Given the description of an element on the screen output the (x, y) to click on. 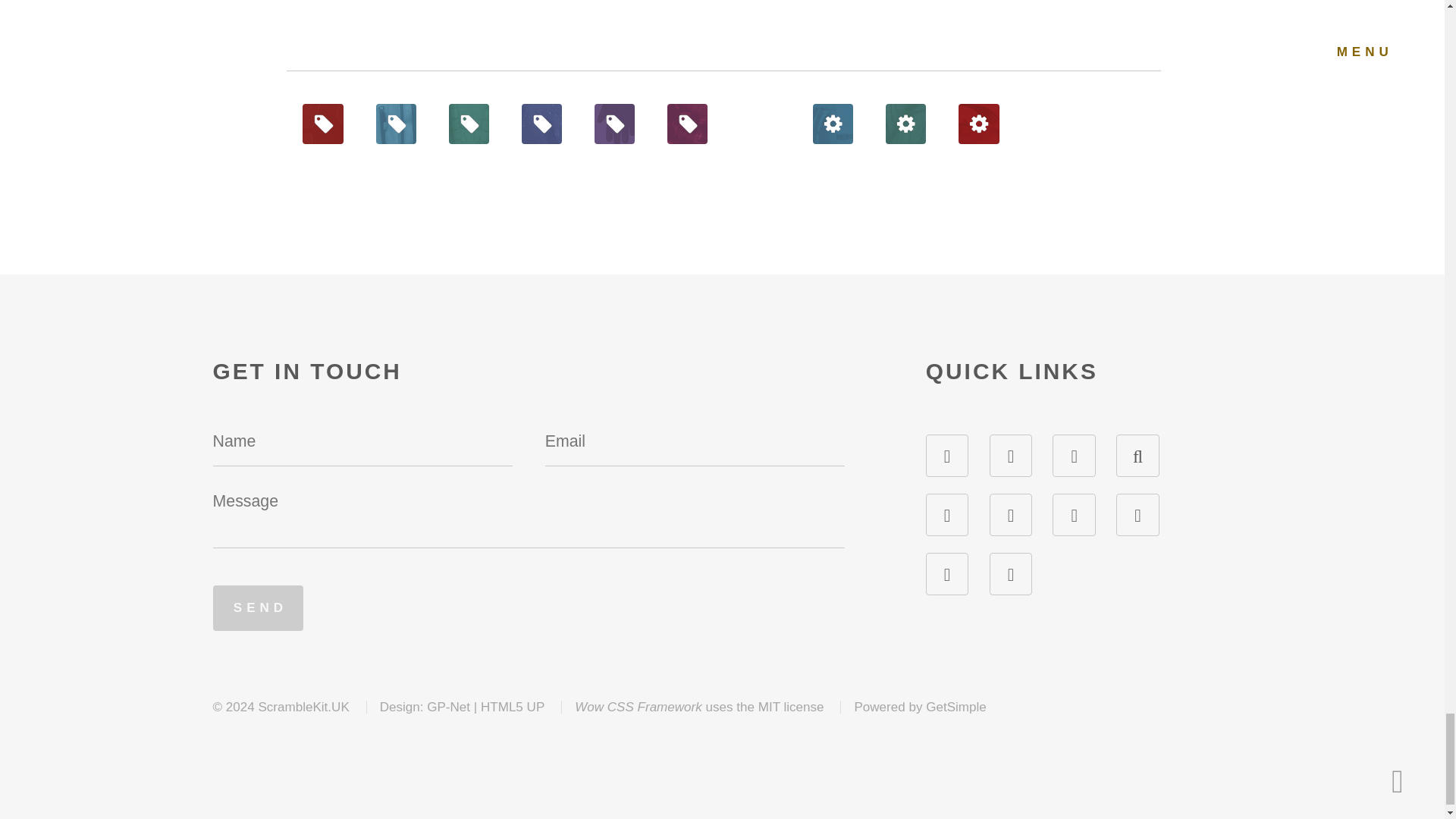
Insulated Outer Layers (468, 124)
Load Carry (832, 124)
Shelter (905, 124)
Send (257, 607)
Extremities (614, 124)
Waterproofs (541, 124)
Active Outer Layers (395, 124)
Baselayers (322, 124)
Other Equipment (978, 124)
Send (257, 607)
Sleepwear (686, 124)
